Given the description of an element on the screen output the (x, y) to click on. 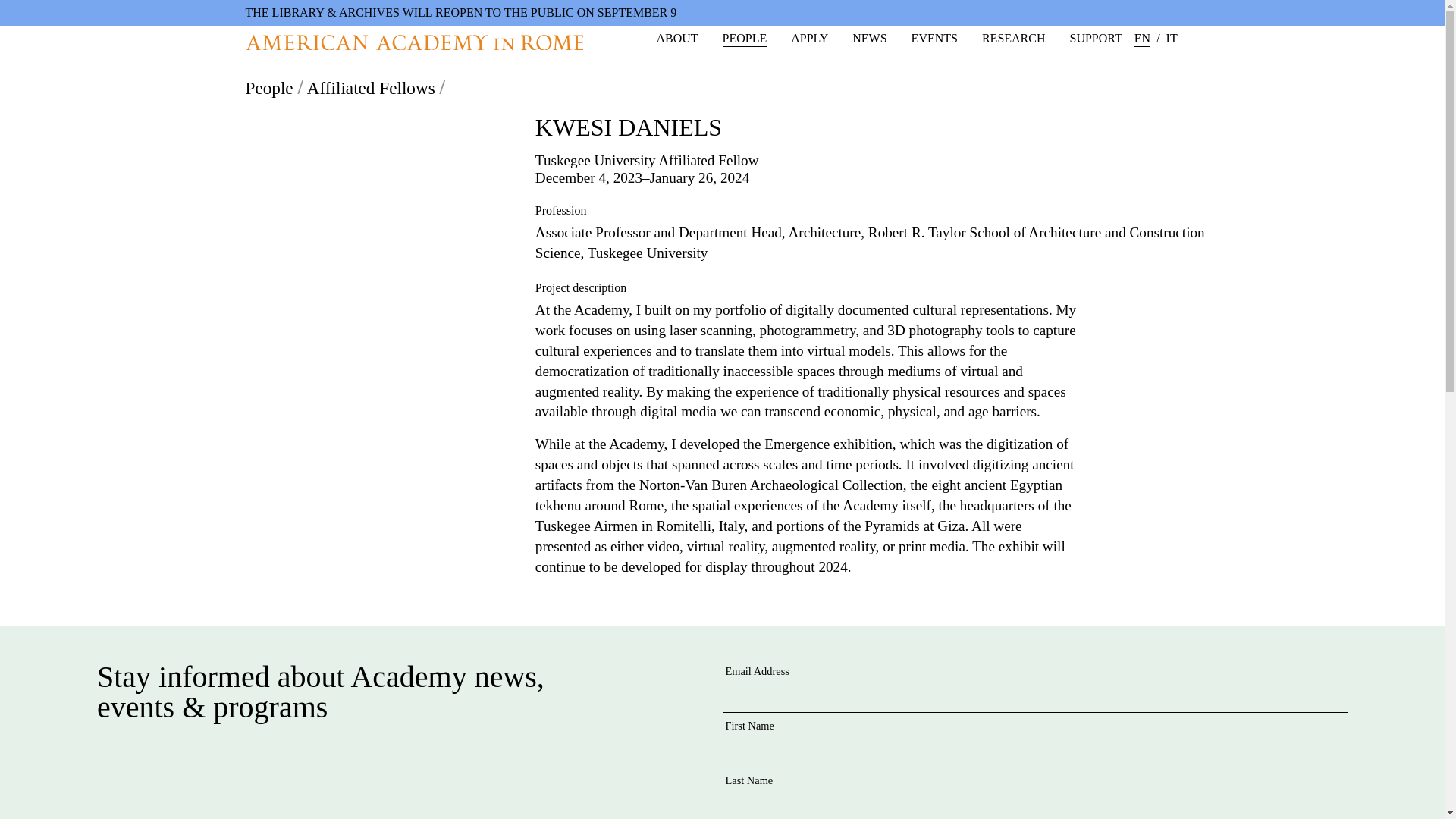
Affiliated Fellows (371, 87)
PEOPLE (744, 38)
SUPPORT (1096, 38)
EVENTS (934, 38)
Home (414, 42)
APPLY (809, 38)
People (270, 87)
RESEARCH (1013, 38)
NEWS (868, 38)
IT (1171, 38)
ABOUT (676, 38)
EN (1142, 38)
